Given the description of an element on the screen output the (x, y) to click on. 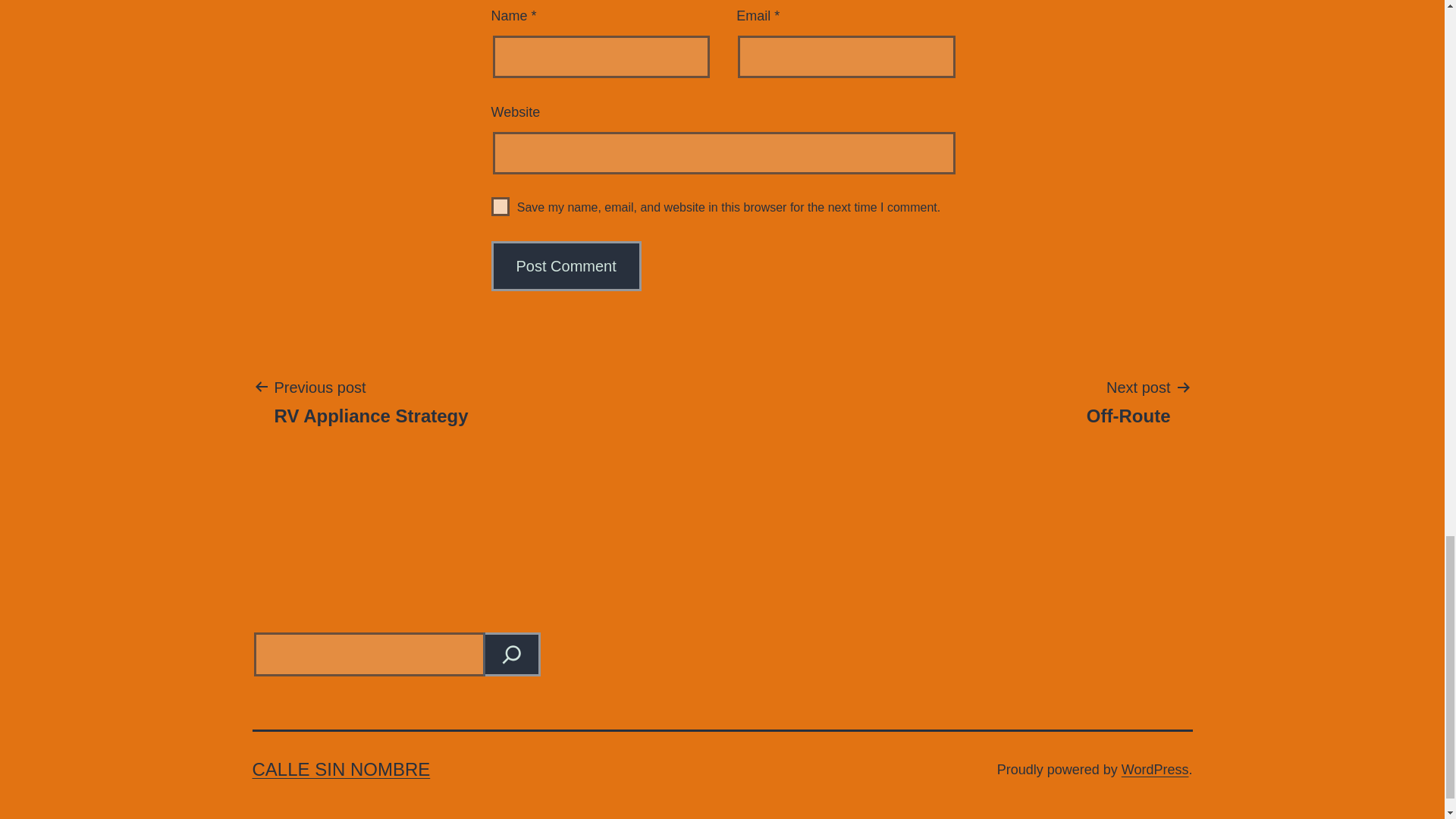
Post Comment (567, 265)
Post Comment (567, 265)
CALLE SIN NOMBRE (340, 769)
WordPress (1155, 769)
yes (500, 206)
